Given the description of an element on the screen output the (x, y) to click on. 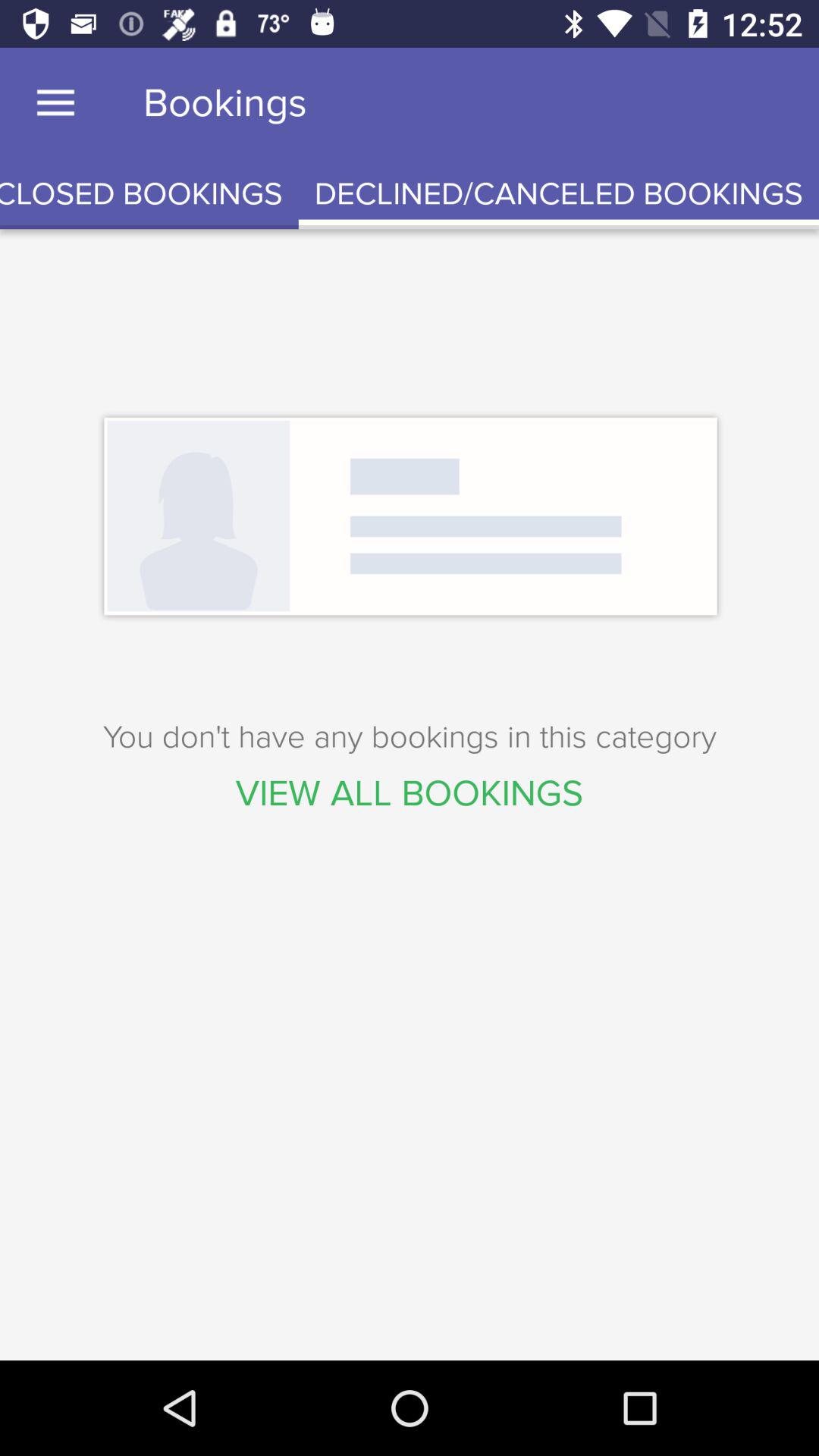
open icon next to expired/closed bookings icon (558, 194)
